Given the description of an element on the screen output the (x, y) to click on. 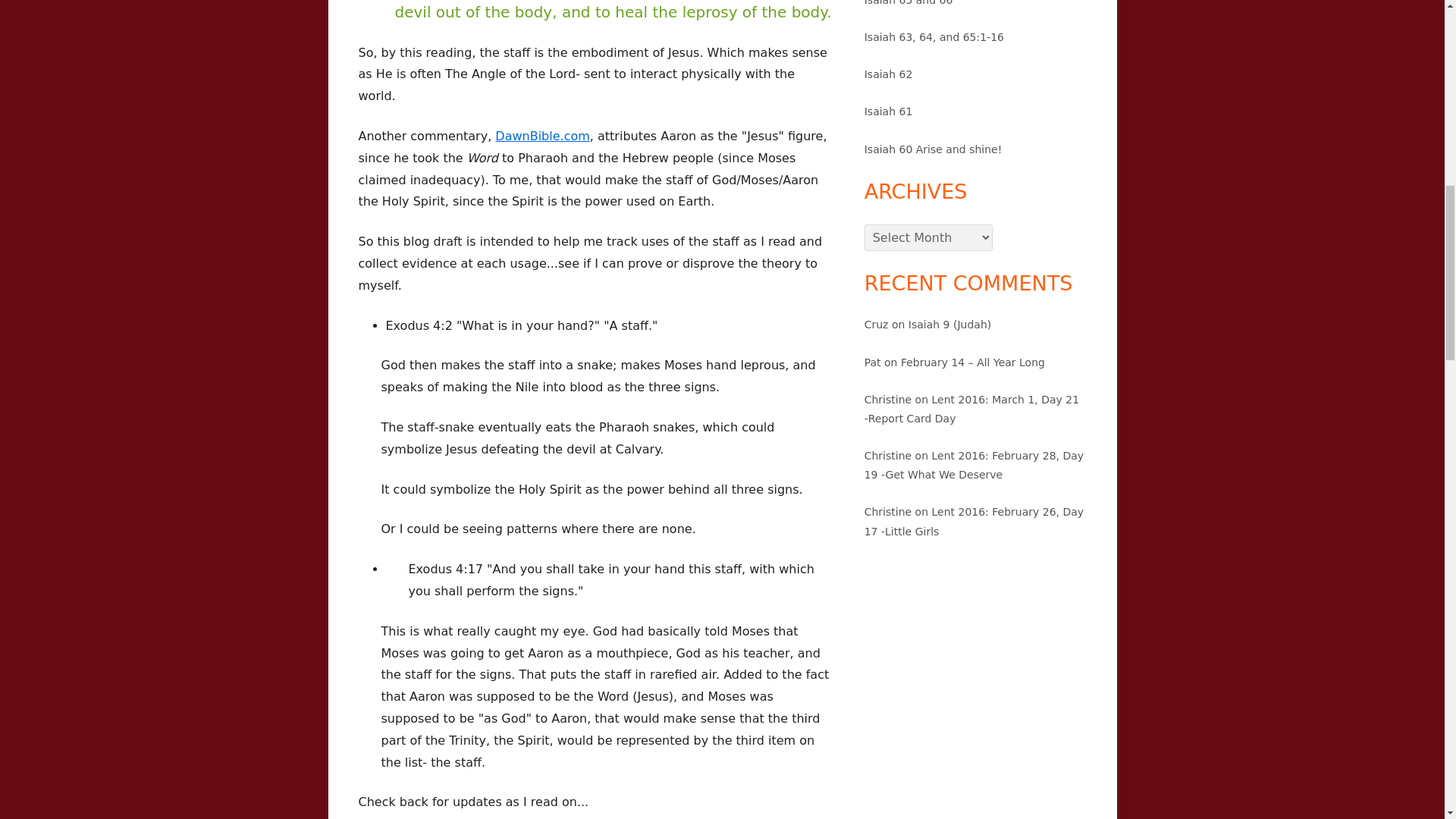
DawnBible.com (542, 135)
